Given the description of an element on the screen output the (x, y) to click on. 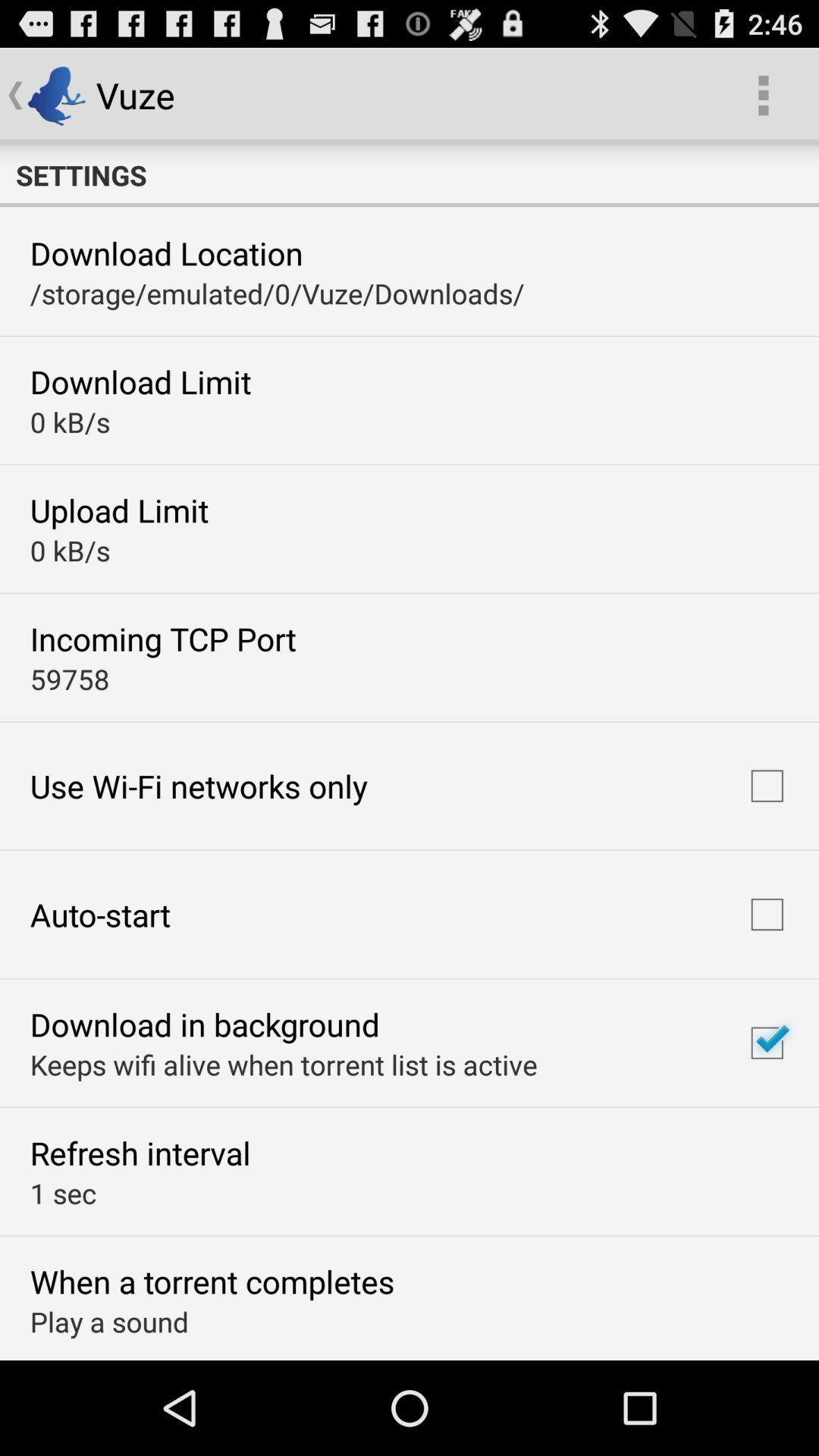
click the icon below the use wi fi item (100, 914)
